Given the description of an element on the screen output the (x, y) to click on. 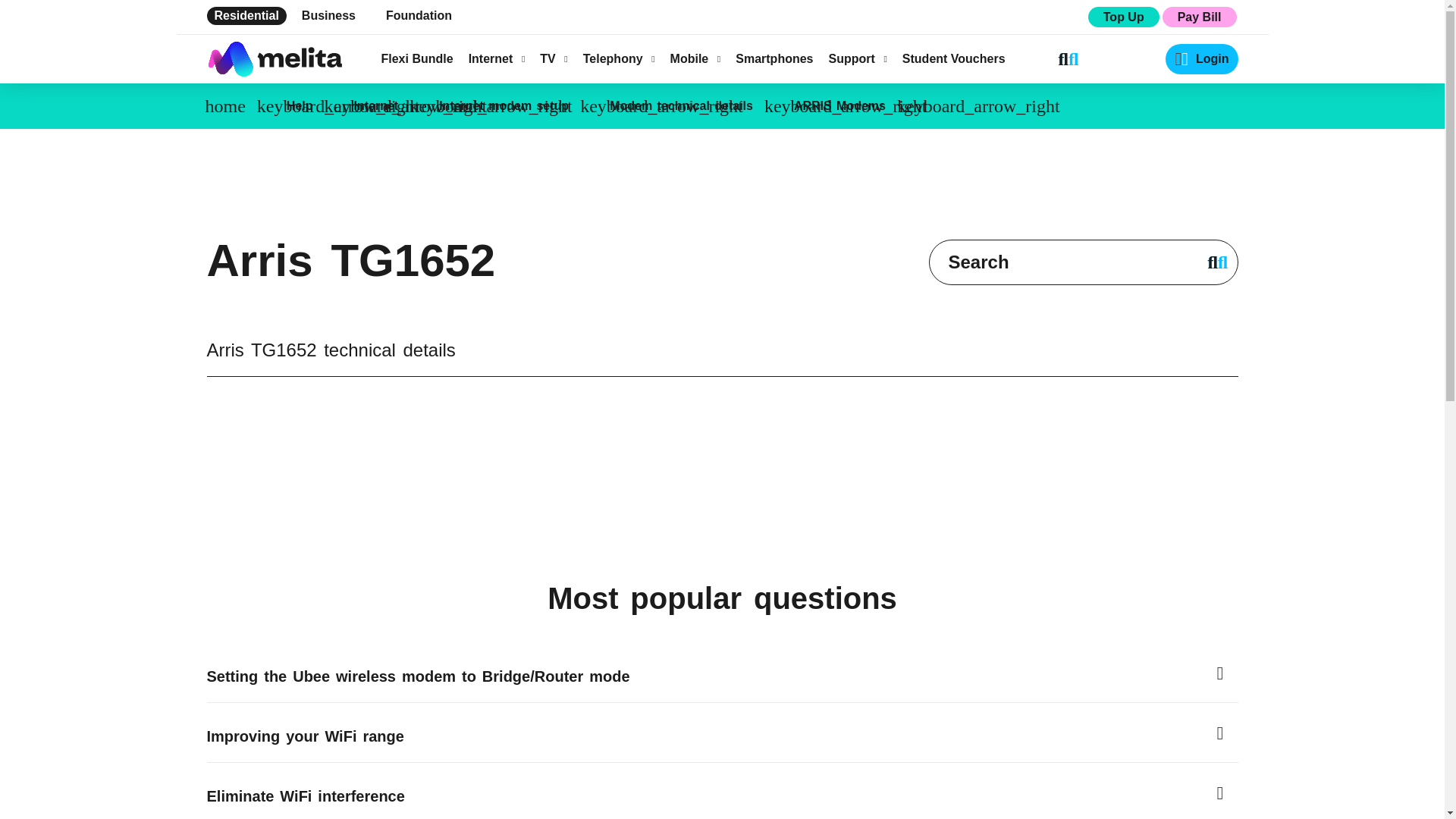
Flexi Bundle (416, 59)
Foundation (418, 15)
Business (328, 15)
Pay Bill (1198, 16)
Internet (496, 59)
Telephony (619, 59)
Mobile (694, 59)
Residential (246, 15)
Support (857, 59)
TV (553, 59)
Smartphones (773, 59)
